Given the description of an element on the screen output the (x, y) to click on. 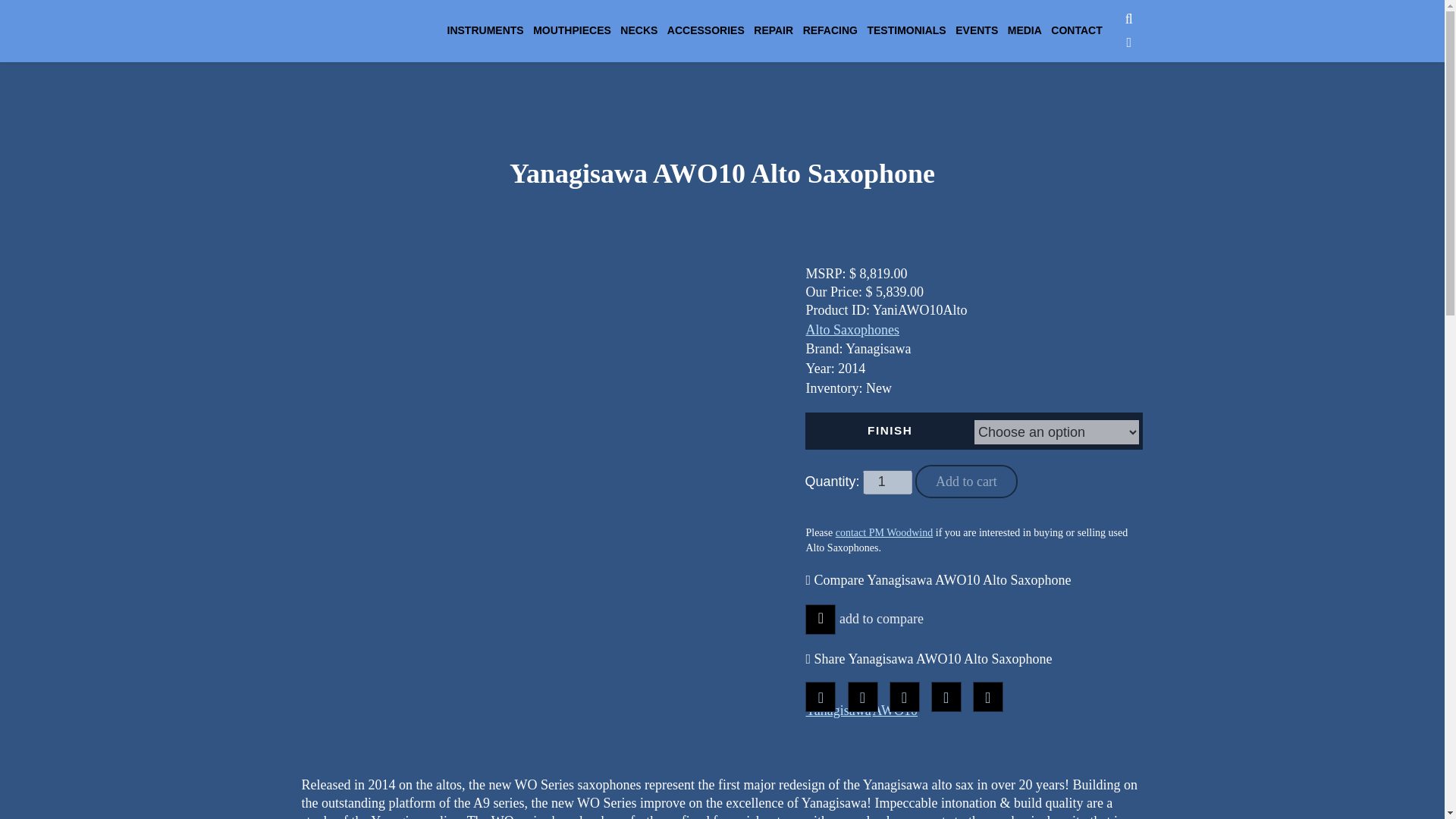
NECKS (639, 30)
View brand (837, 711)
INSTRUMENTS (485, 30)
Add to cart (966, 481)
MOUTHPIECES (571, 30)
View brand (894, 711)
LinkedIn (987, 696)
1 (887, 482)
Alto Saxophones (852, 329)
Facebook (820, 696)
